Given the description of an element on the screen output the (x, y) to click on. 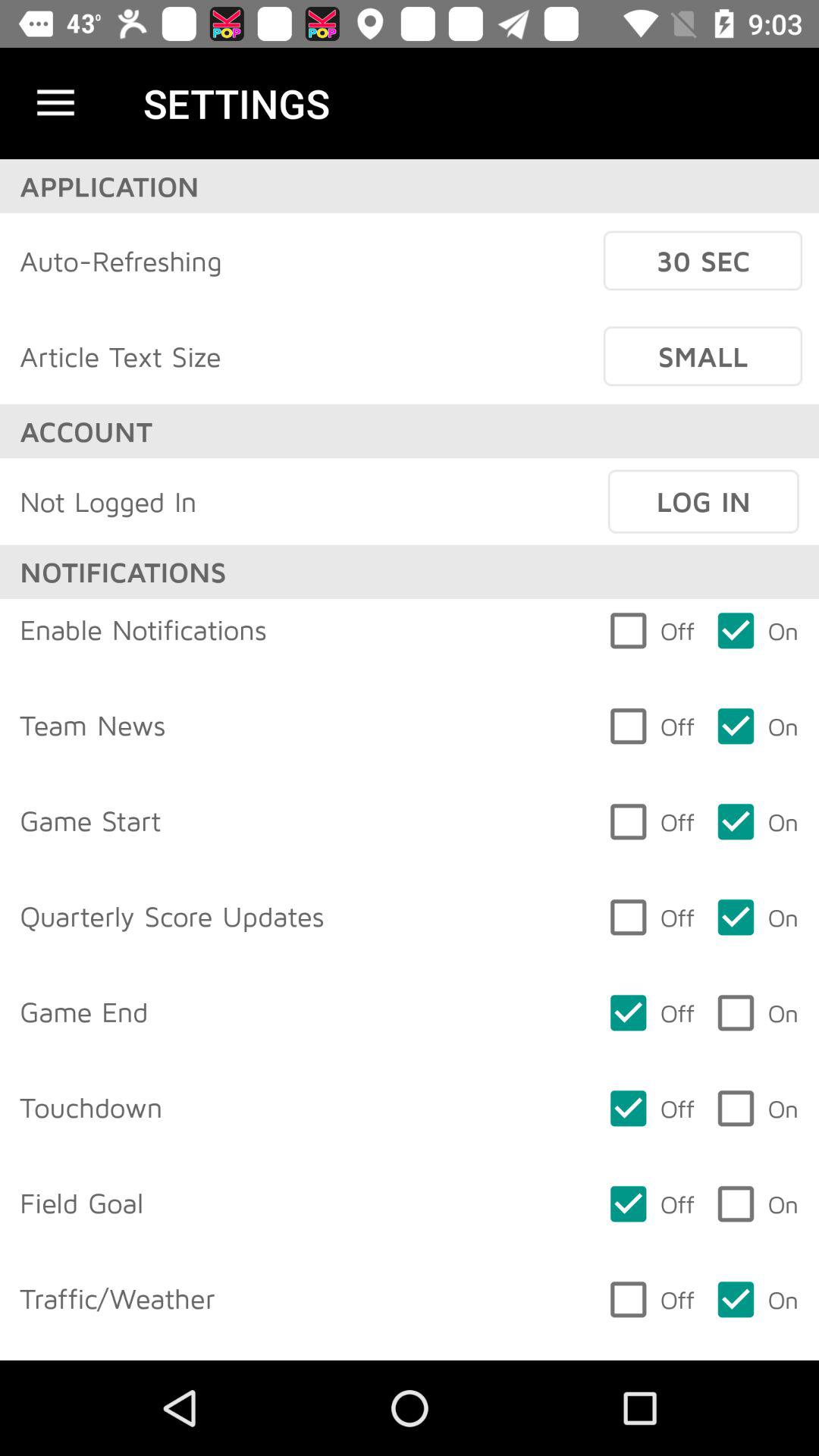
choose item above off item (703, 501)
